Given the description of an element on the screen output the (x, y) to click on. 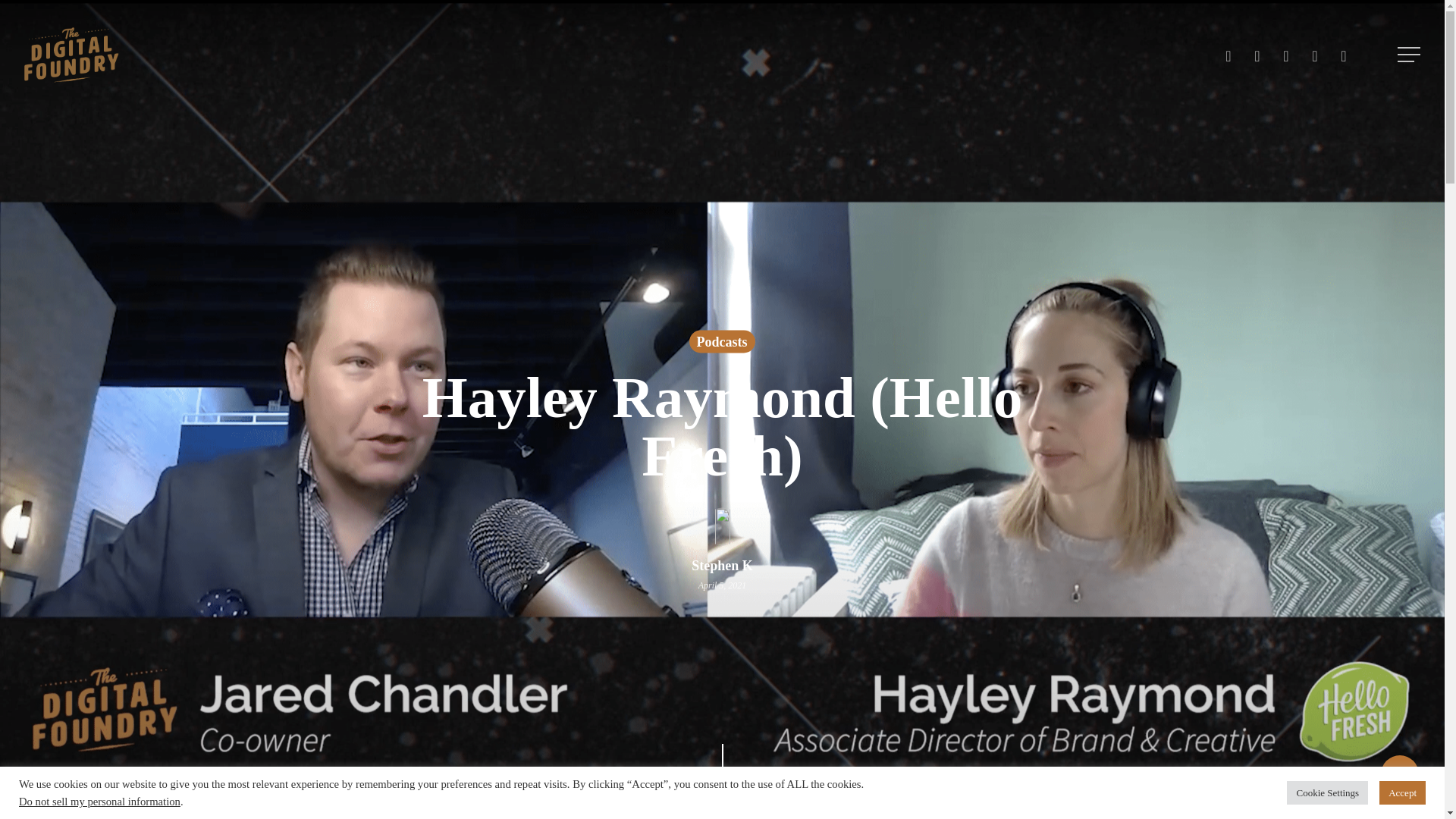
facebook (1228, 54)
Podcasts (721, 358)
vimeo (1257, 54)
Posts by Stephen K (721, 565)
youtube (1314, 54)
Menu (1410, 54)
Stephen K (721, 580)
linkedin (1285, 54)
instagram (1343, 54)
